Given the description of an element on the screen output the (x, y) to click on. 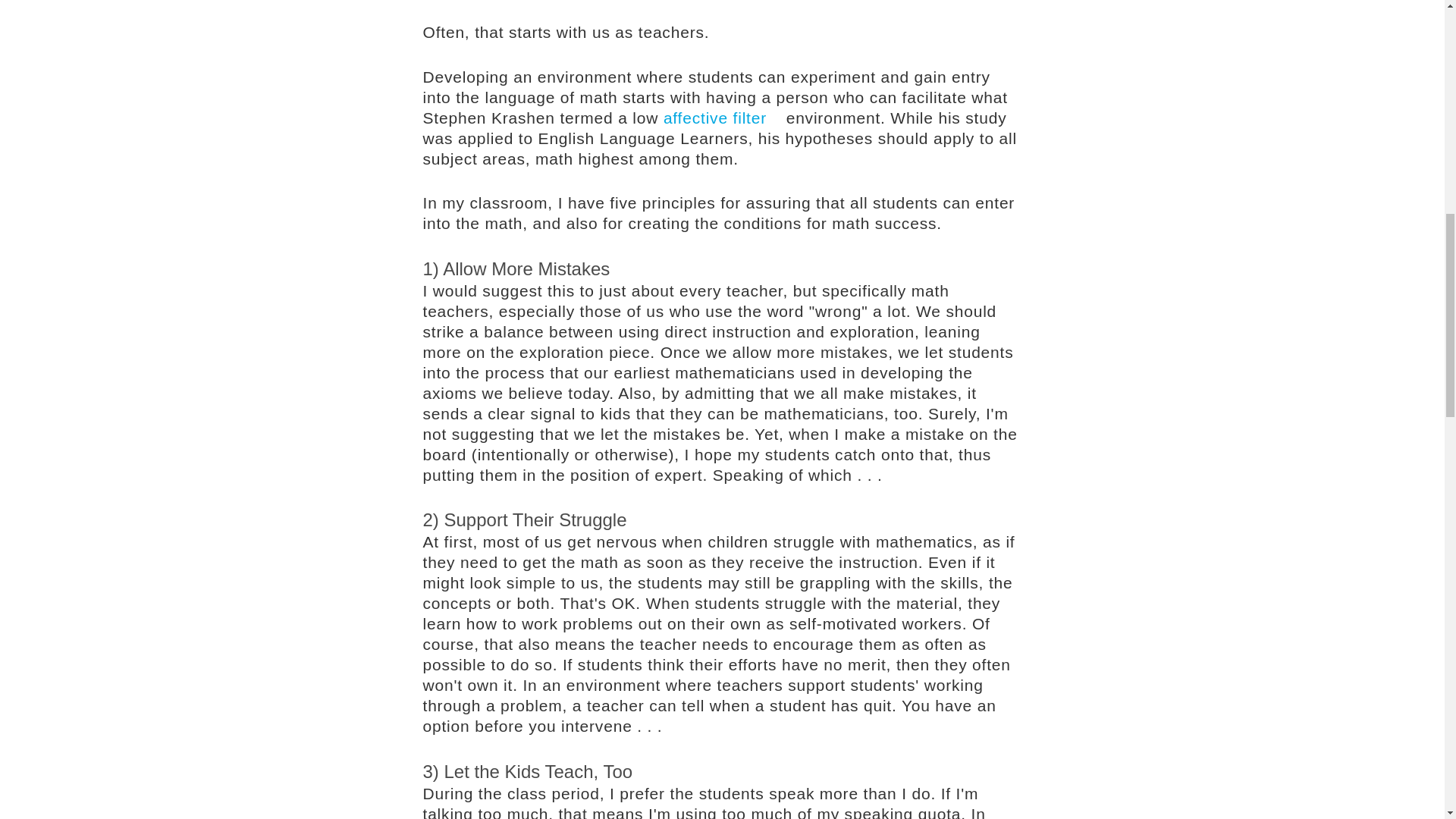
affective filter (721, 117)
